Given the description of an element on the screen output the (x, y) to click on. 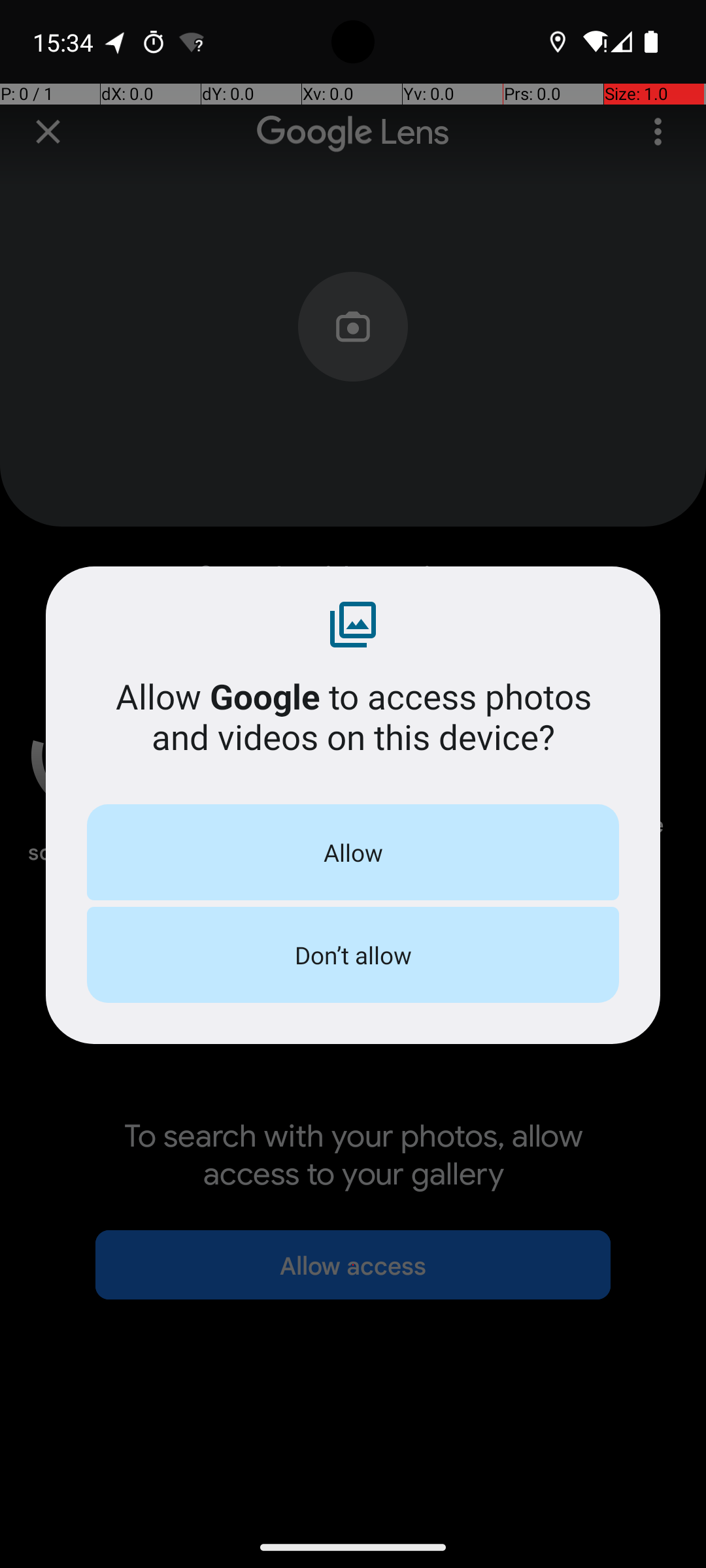
Allow Google to access photos and videos on this device? Element type: android.widget.TextView (352, 715)
